Given the description of an element on the screen output the (x, y) to click on. 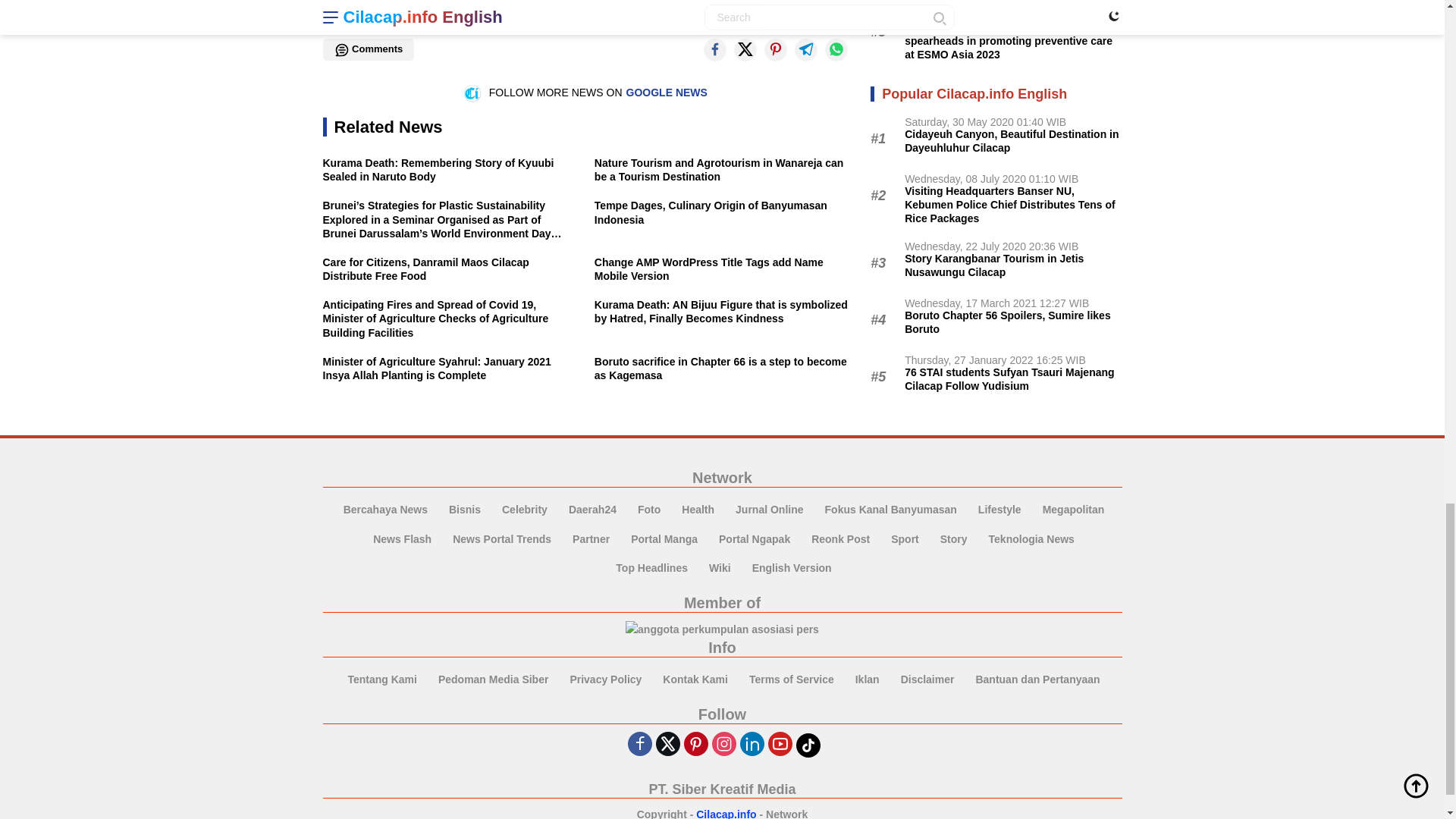
Cilacap (354, 15)
Comments (368, 49)
Weather (421, 15)
GOOGLE NEWS (666, 92)
